Given the description of an element on the screen output the (x, y) to click on. 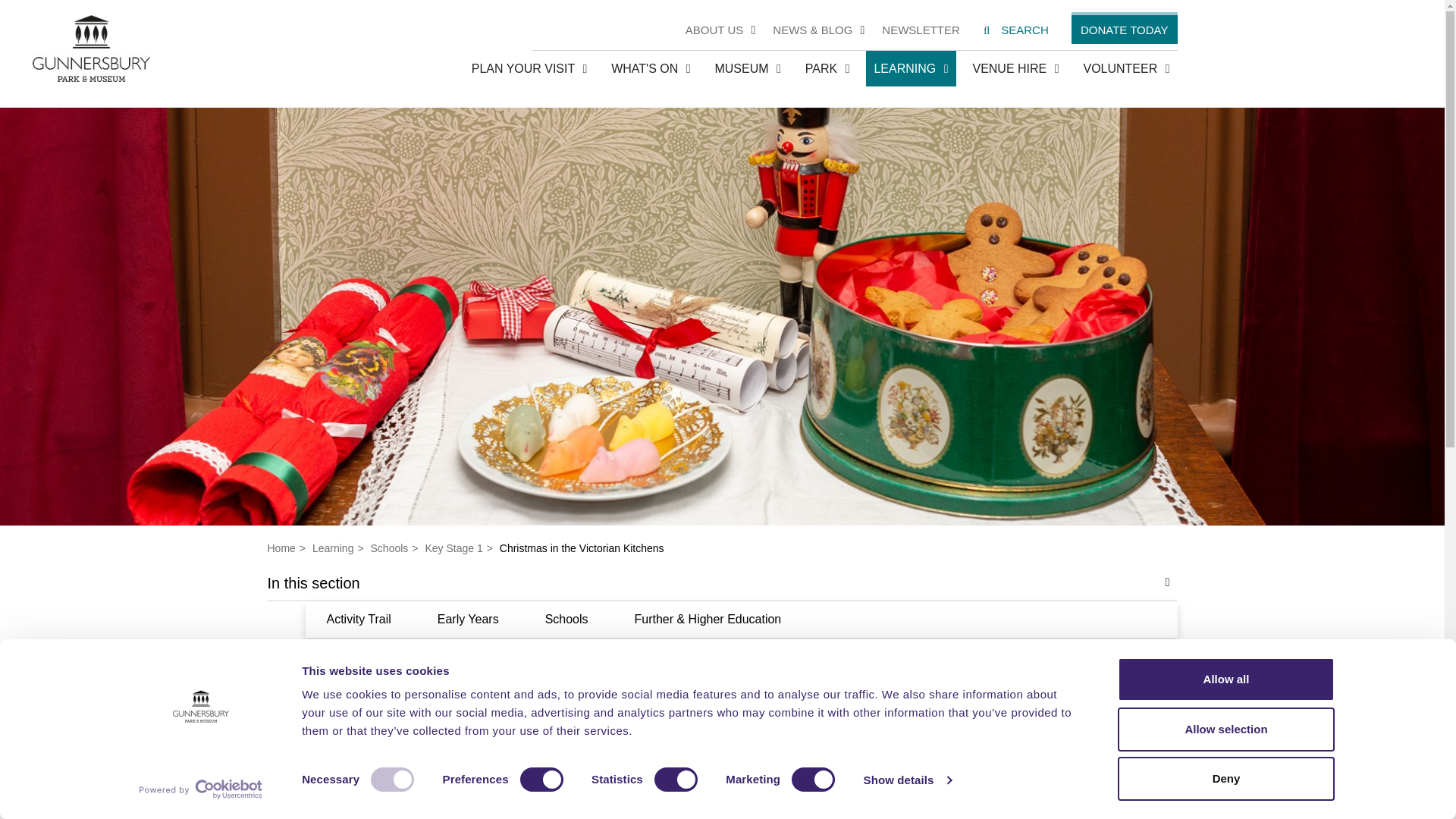
Show details (907, 780)
